Given the description of an element on the screen output the (x, y) to click on. 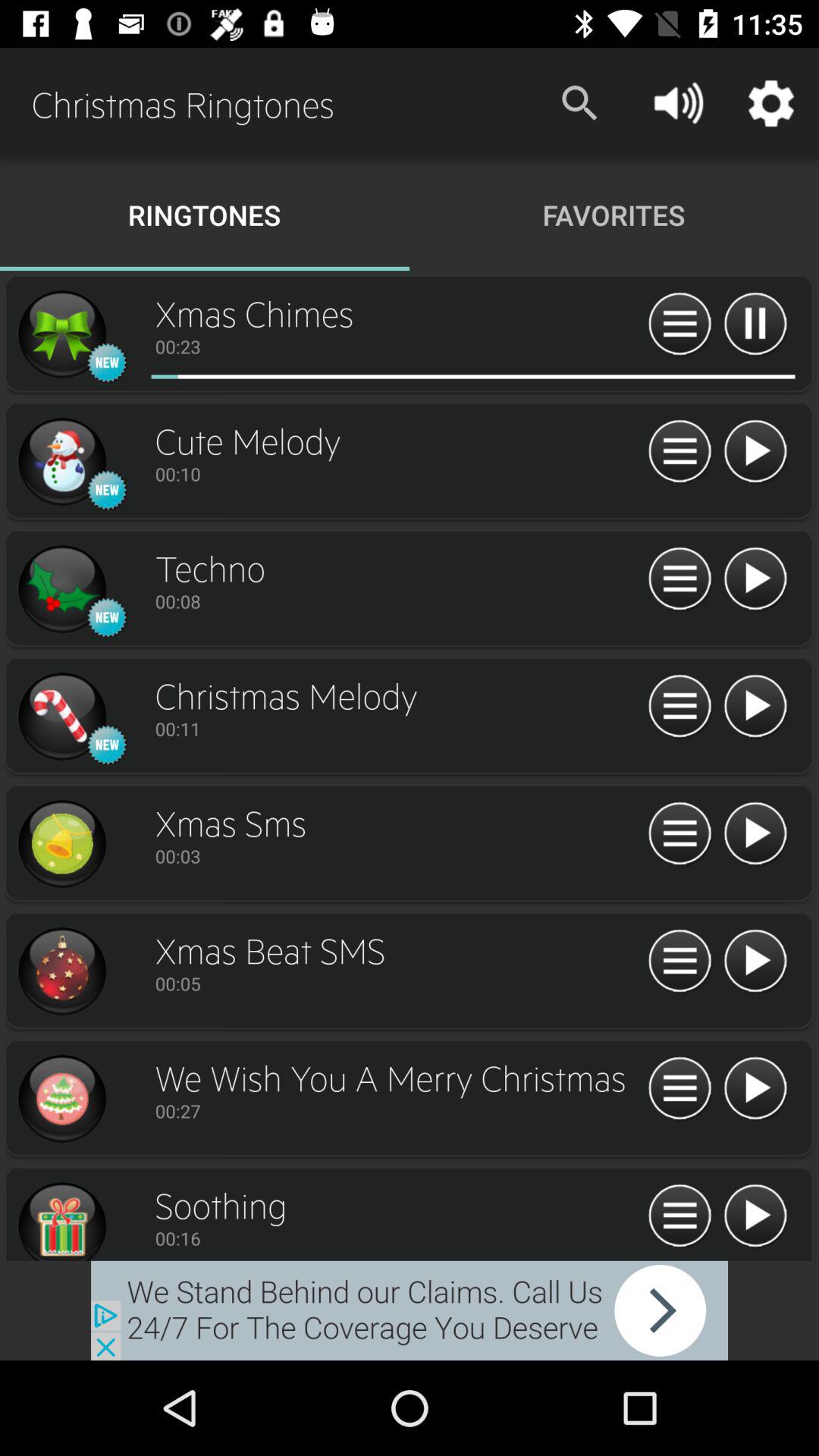
play the tune (755, 579)
